Given the description of an element on the screen output the (x, y) to click on. 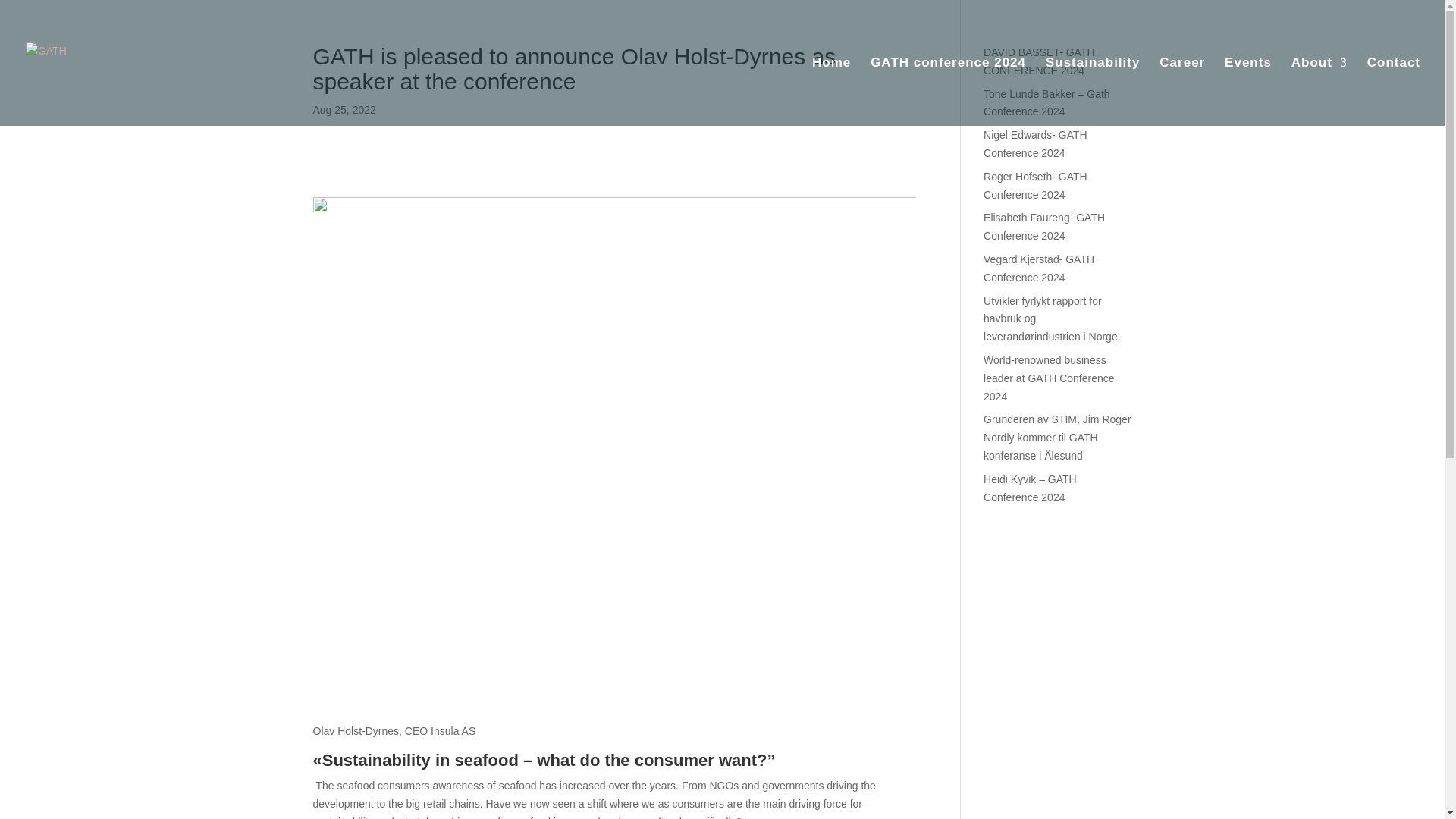
Sustainability (1092, 91)
About (1319, 91)
Nigel Edwards- GATH Conference 2024 (1035, 143)
Events (1247, 91)
Contact (1394, 91)
Career (1181, 91)
Roger Hofseth- GATH Conference 2024 (1035, 185)
Elisabeth Faureng- GATH Conference 2024 (1044, 226)
DAVID BASSET- GATH CONFERENCE 2024 (1039, 60)
World-renowned business leader at GATH Conference 2024 (1049, 377)
Home (831, 91)
GATH conference 2024 (948, 91)
Vegard Kjerstad- GATH Conference 2024 (1039, 268)
